Given the description of an element on the screen output the (x, y) to click on. 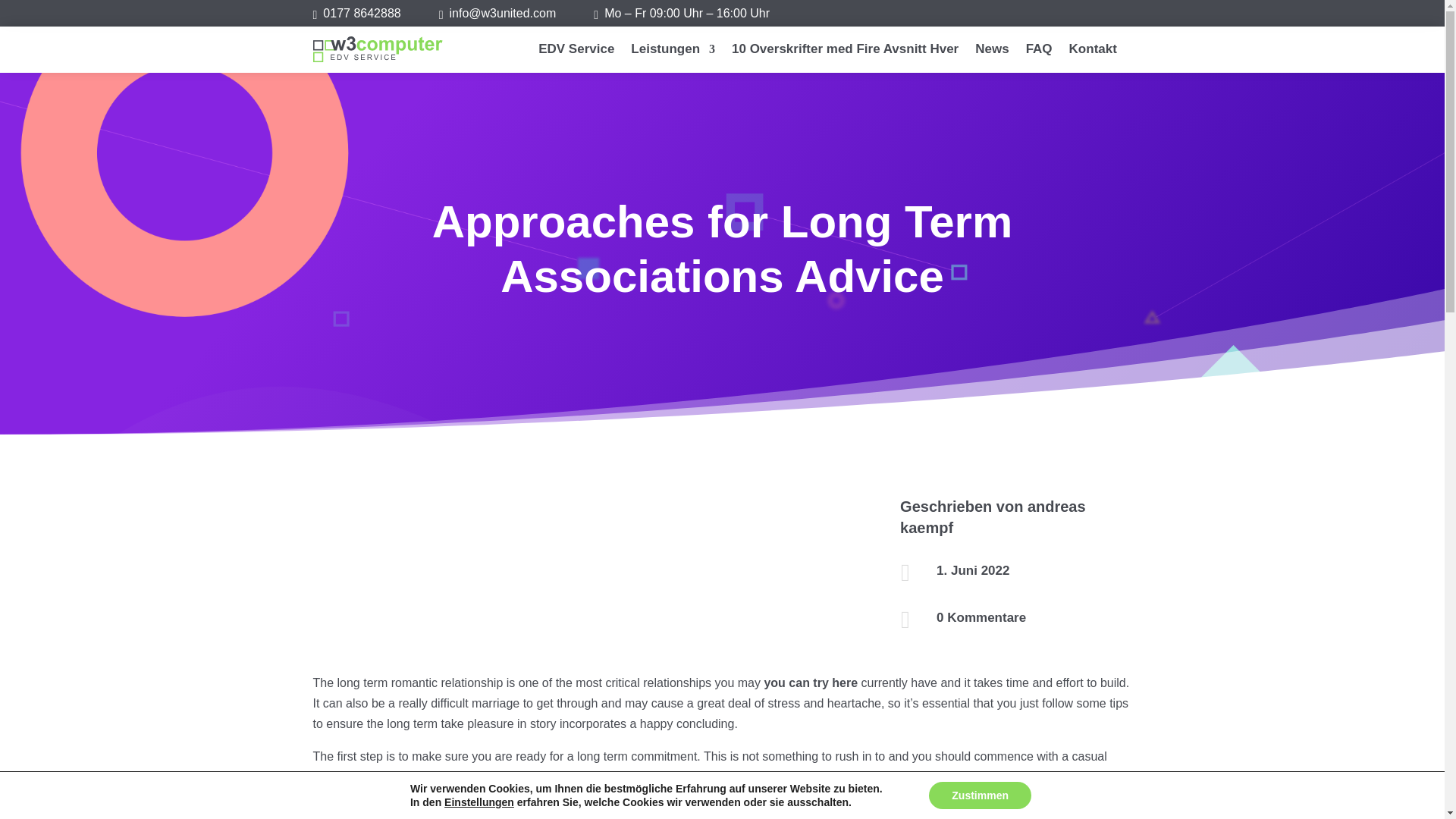
EDV Service (576, 52)
Leistungen (672, 52)
Kontakt (1092, 52)
News (992, 52)
FAQ (1039, 52)
w3computer EDV Service Koblenz (377, 49)
w3united Media Consulting (361, 12)
0177 8642888 (361, 12)
w3united (502, 12)
10 Overskrifter med Fire Avsnitt Hver (845, 52)
